Given the description of an element on the screen output the (x, y) to click on. 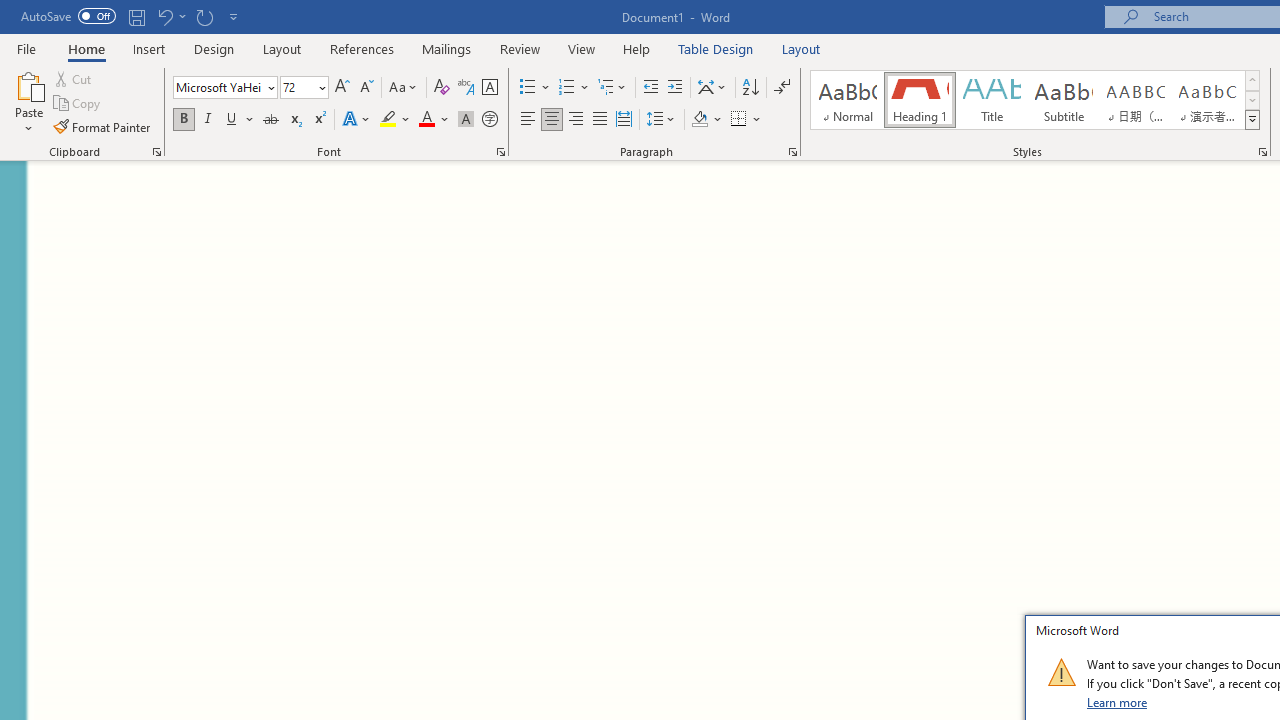
Character Border (489, 87)
Cut (73, 78)
Multilevel List (613, 87)
Heading 1 (920, 100)
Title (991, 100)
Table Design (715, 48)
Font... (500, 151)
Copy (78, 103)
